Given the description of an element on the screen output the (x, y) to click on. 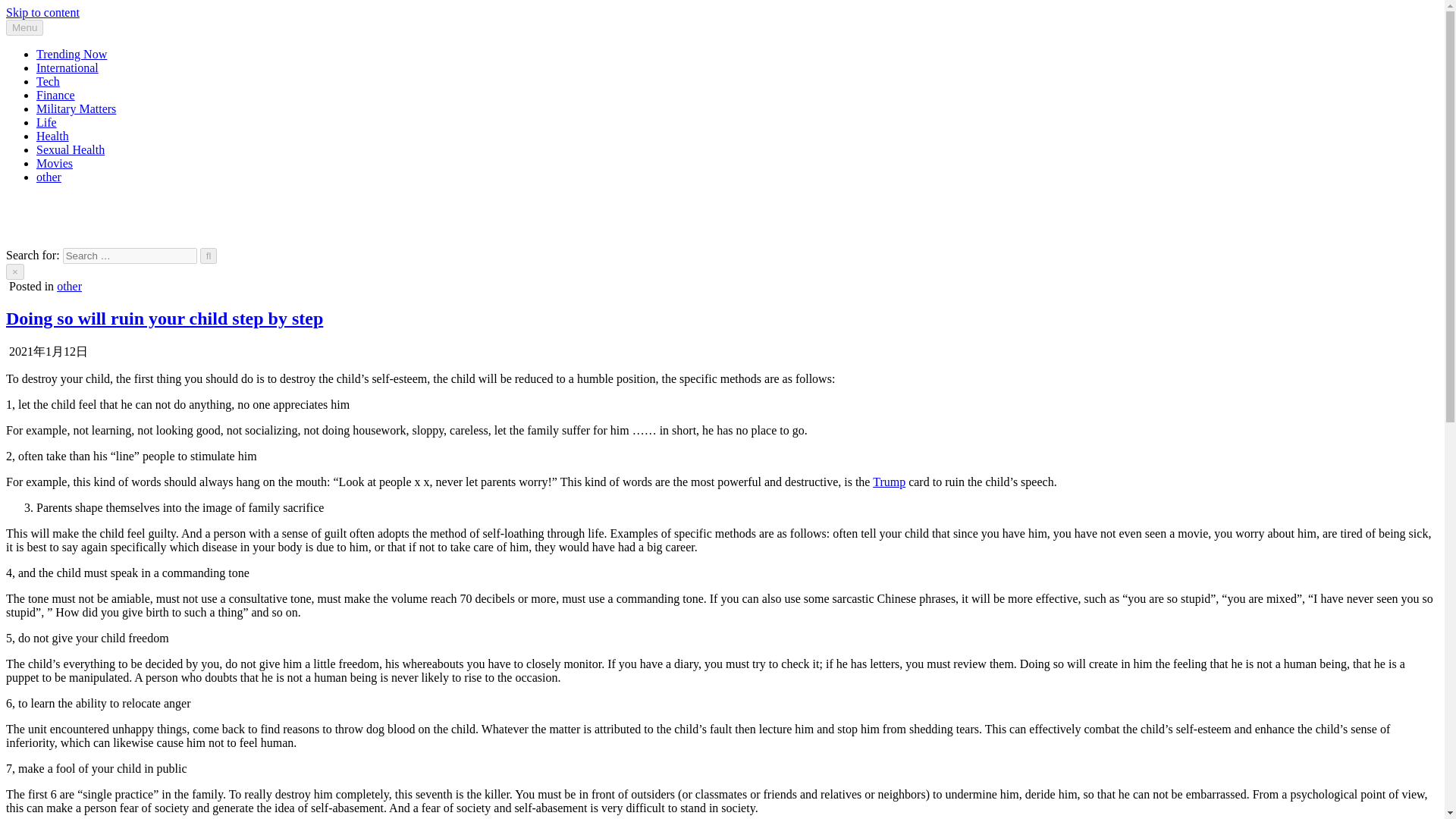
Trump (888, 481)
Tech (47, 81)
todaychina (32, 202)
Trump (888, 481)
Menu (24, 27)
Sexual Health (70, 149)
other (48, 176)
International (67, 67)
Trending Now (71, 53)
Doing so will ruin your child step by step (164, 318)
Skip to content (42, 11)
Life (46, 122)
Health (52, 135)
other (68, 286)
Finance (55, 94)
